Given the description of an element on the screen output the (x, y) to click on. 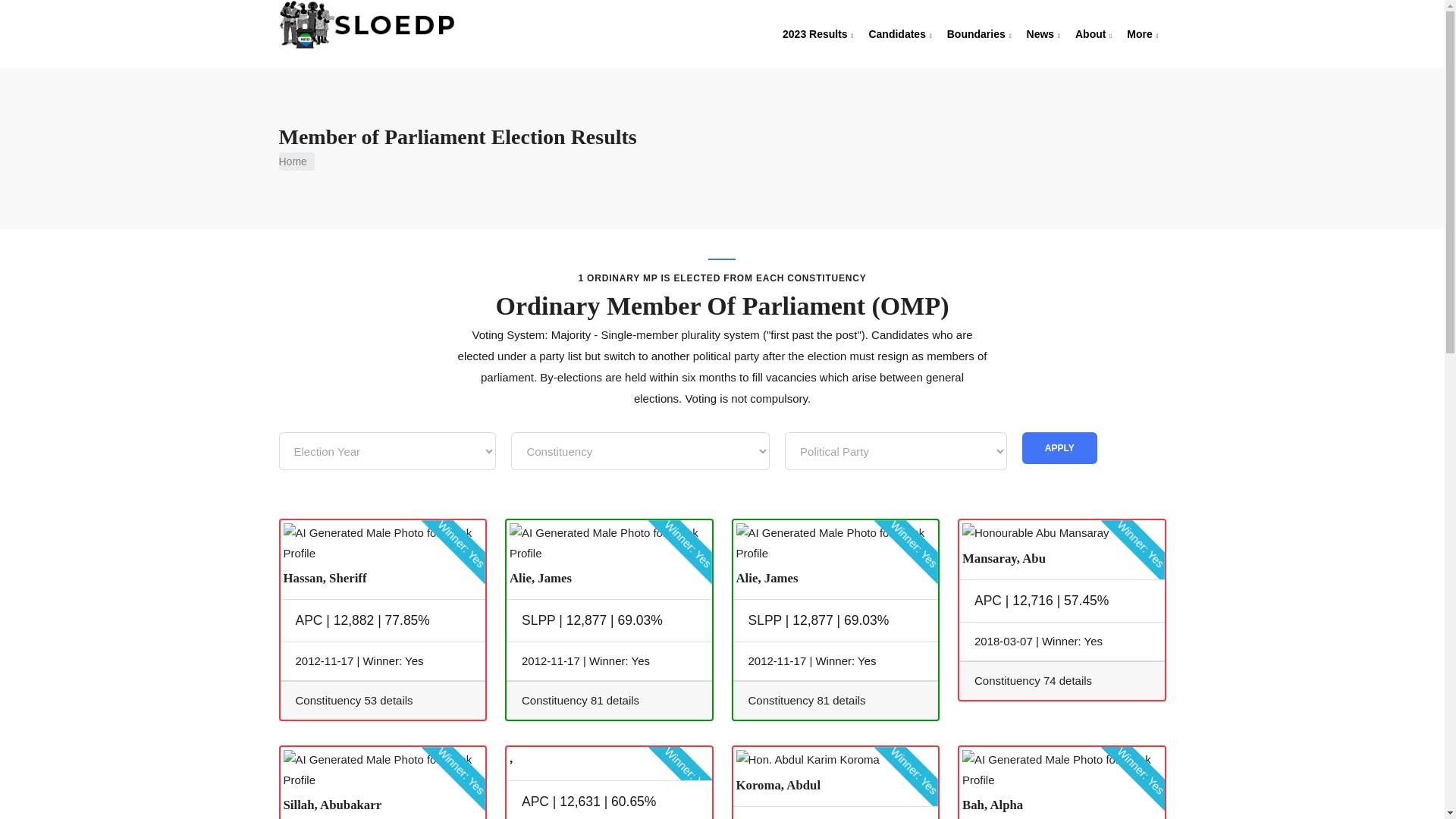
Candidates (899, 33)
Boundaries (979, 33)
Honourable Abu Mansaray (1035, 533)
Apply (1059, 448)
AI Generated Male Photo for Blank Profile (608, 543)
Home (379, 24)
AI Generated Male Photo for Blank Profile (834, 543)
AI Generated Male Photo for Blank Profile (383, 769)
2023 Results (817, 33)
Hon. Abdul Karim Koroma (807, 759)
